Given the description of an element on the screen output the (x, y) to click on. 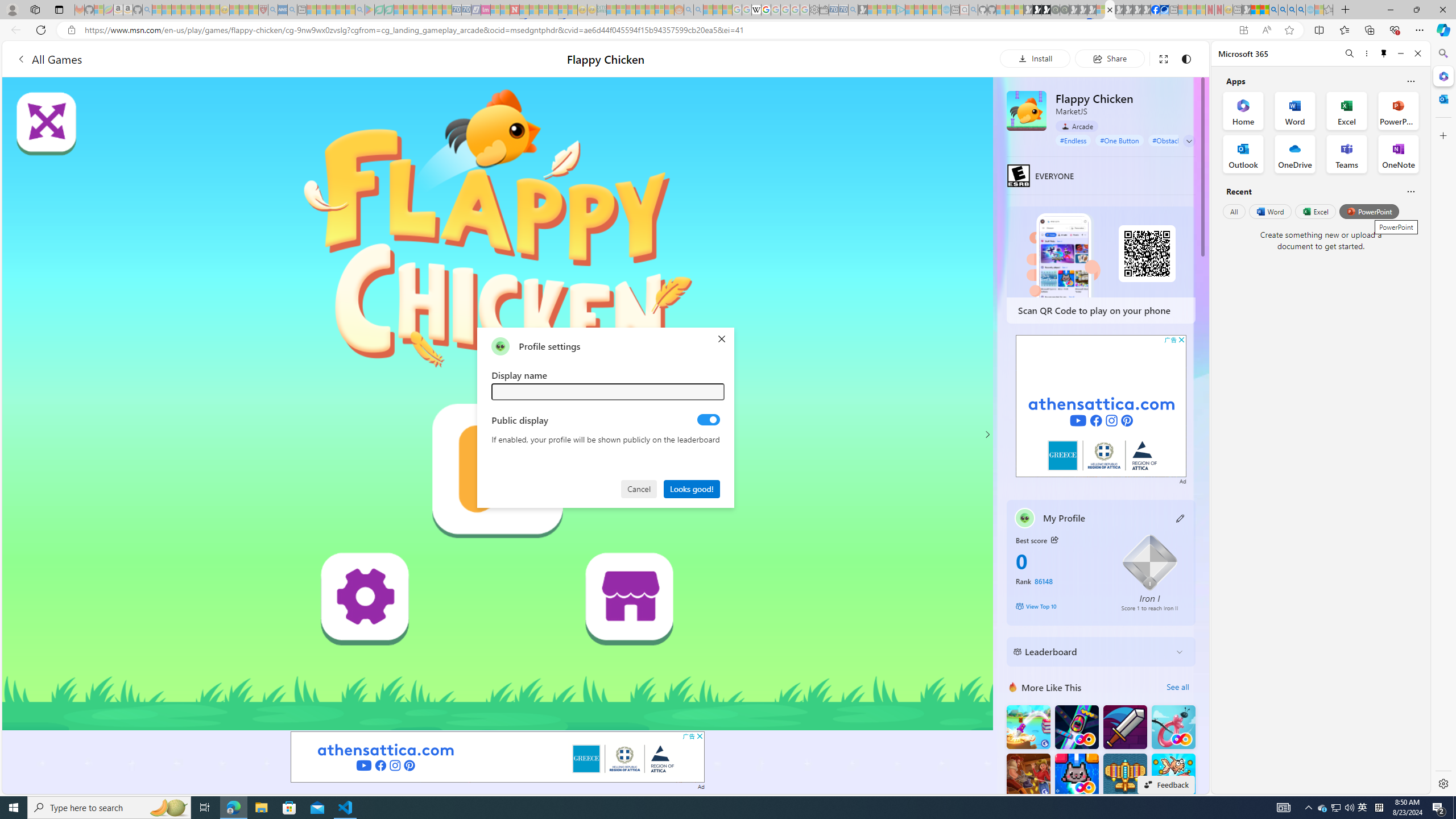
Bing Real Estate - Home sales and rental listings - Sleeping (853, 9)
Knife Flip (1028, 726)
Fish Merge FRVR (1173, 775)
Class: text-input (608, 391)
Favorites - Sleeping (1328, 9)
google - Search - Sleeping (359, 9)
See all (1177, 687)
AirNow.gov (1163, 9)
Pets - MSN - Sleeping (340, 9)
